Given the description of an element on the screen output the (x, y) to click on. 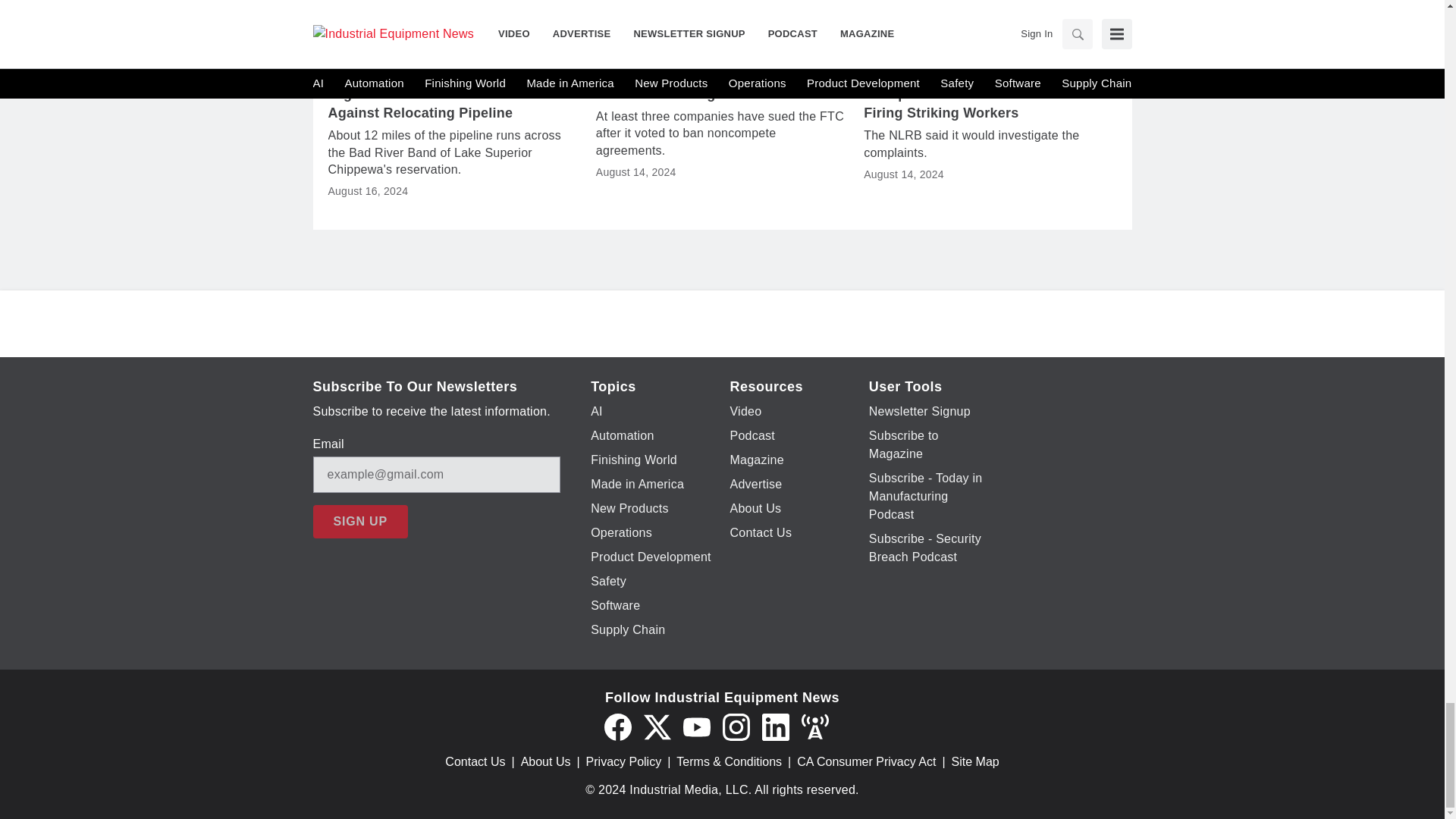
YouTube icon (696, 727)
Instagram icon (735, 727)
LinkedIn icon (775, 727)
Twitter X icon (656, 727)
Facebook icon (617, 727)
